Given the description of an element on the screen output the (x, y) to click on. 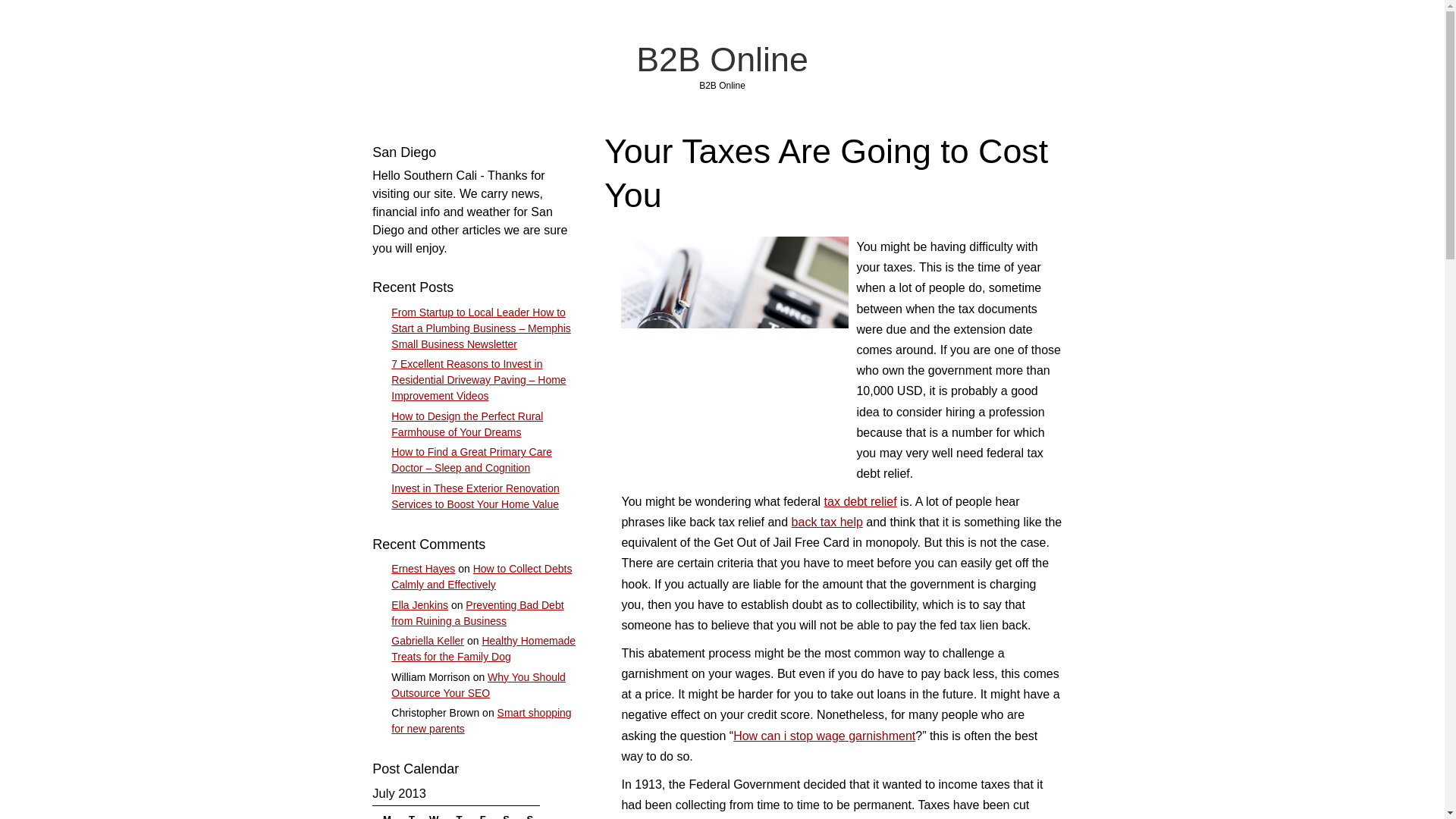
How to Collect Debts Calmly and Effectively (481, 576)
Ella Jenkins (419, 604)
Irs tax lien removal, Irs debt reduction (827, 521)
Back taxes penalties, Back taxes penalties (860, 501)
B2B Online (722, 58)
Preventing Bad Debt from Ruining a Business (477, 612)
Saturday (502, 813)
How can i stop wage garnishment (824, 735)
Smart shopping for new parents (480, 720)
